Given the description of an element on the screen output the (x, y) to click on. 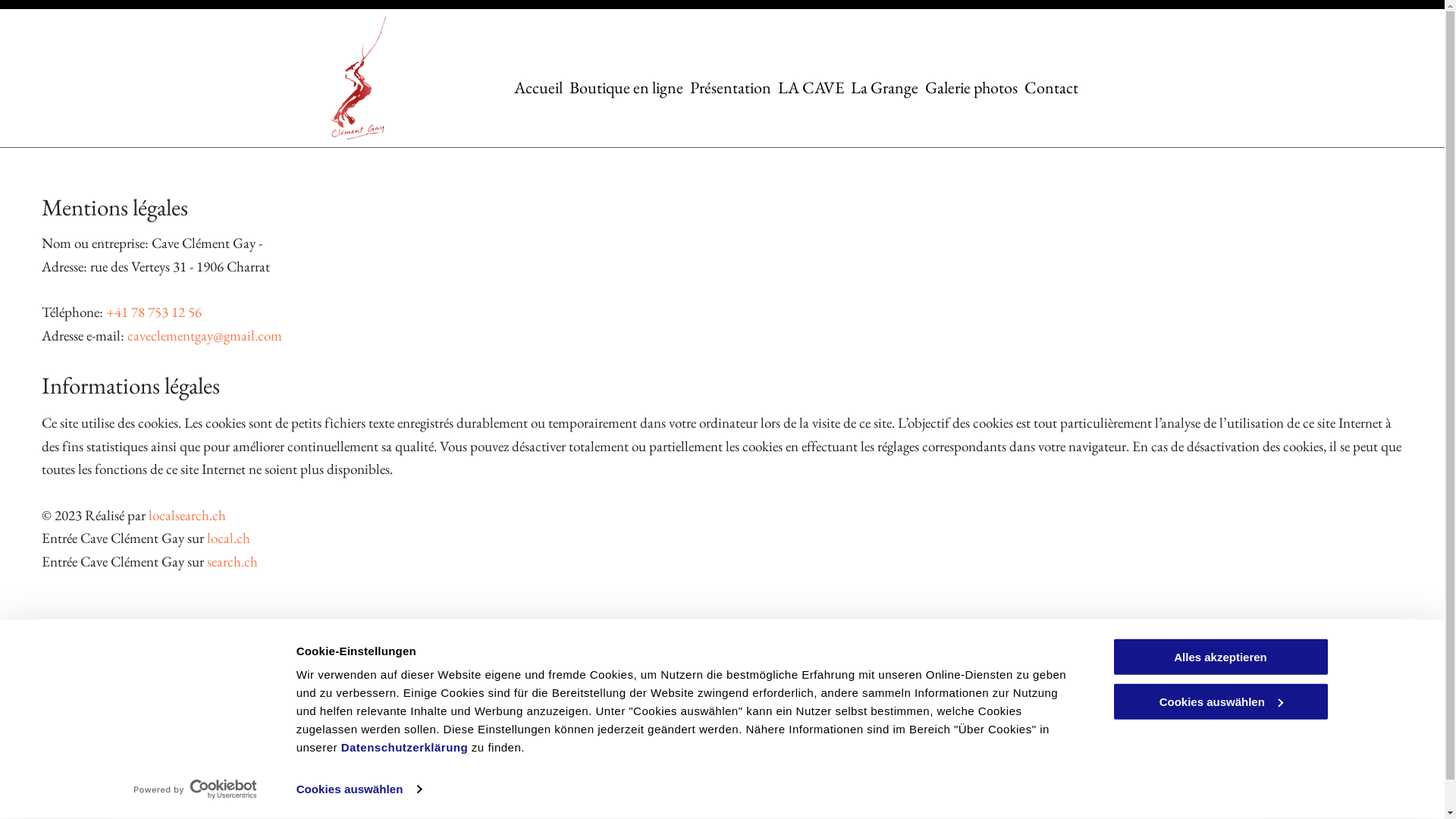
caveclementgay@gmail.com Element type: text (575, 724)
local.ch Element type: text (228, 537)
Galerie photos Element type: text (971, 86)
search.ch Element type: text (232, 561)
Contact Element type: text (1051, 86)
+41 78 753 12 56 Element type: text (552, 685)
LA CAVE Element type: text (811, 86)
Alles akzeptieren Element type: text (1219, 656)
La Grange Element type: text (884, 86)
localsearch.ch Element type: text (186, 514)
+41 78 753 12 56 Element type: text (153, 311)
Accueil Element type: text (538, 86)
Boutique en ligne Element type: text (626, 86)
caveclementgay@gmail.com Element type: text (204, 335)
